Given the description of an element on the screen output the (x, y) to click on. 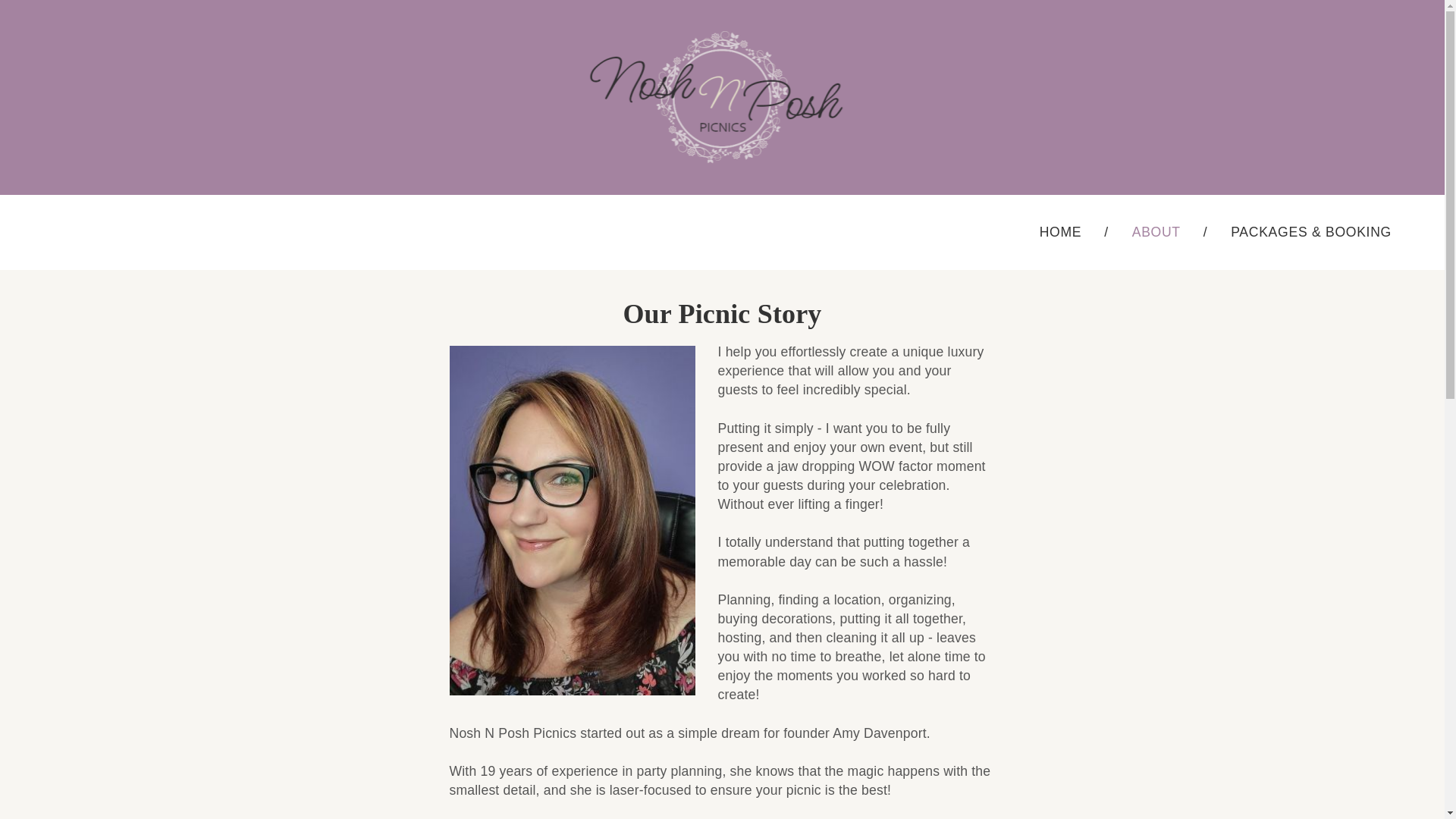
HOME (1060, 232)
ABOUT (1156, 232)
